Given the description of an element on the screen output the (x, y) to click on. 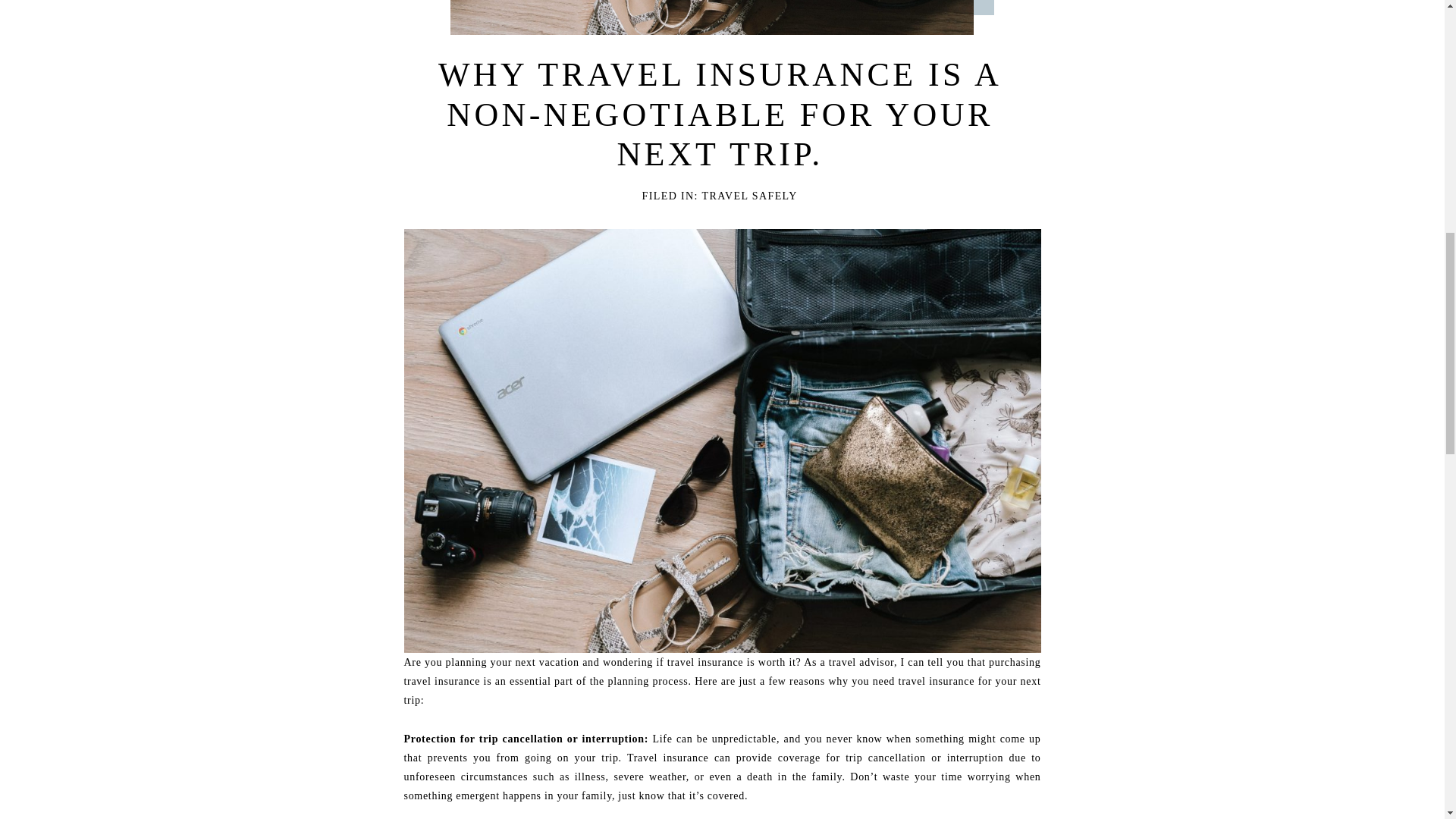
TRAVEL SAFELY (749, 195)
